Given the description of an element on the screen output the (x, y) to click on. 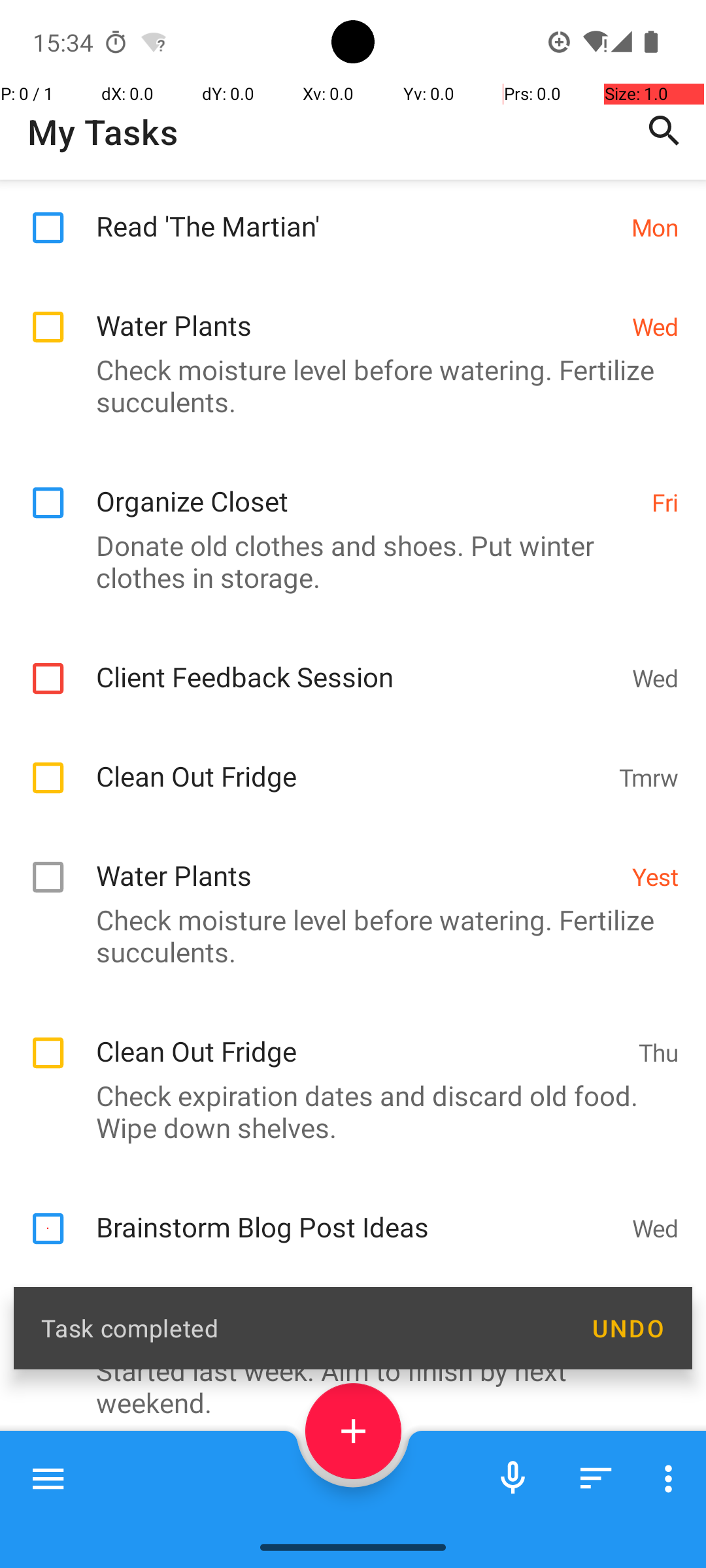
Task completed Element type: android.widget.TextView (302, 1327)
UNDO Element type: android.widget.Button (627, 1328)
Client Feedback Session Element type: android.widget.TextView (357, 662)
